Given the description of an element on the screen output the (x, y) to click on. 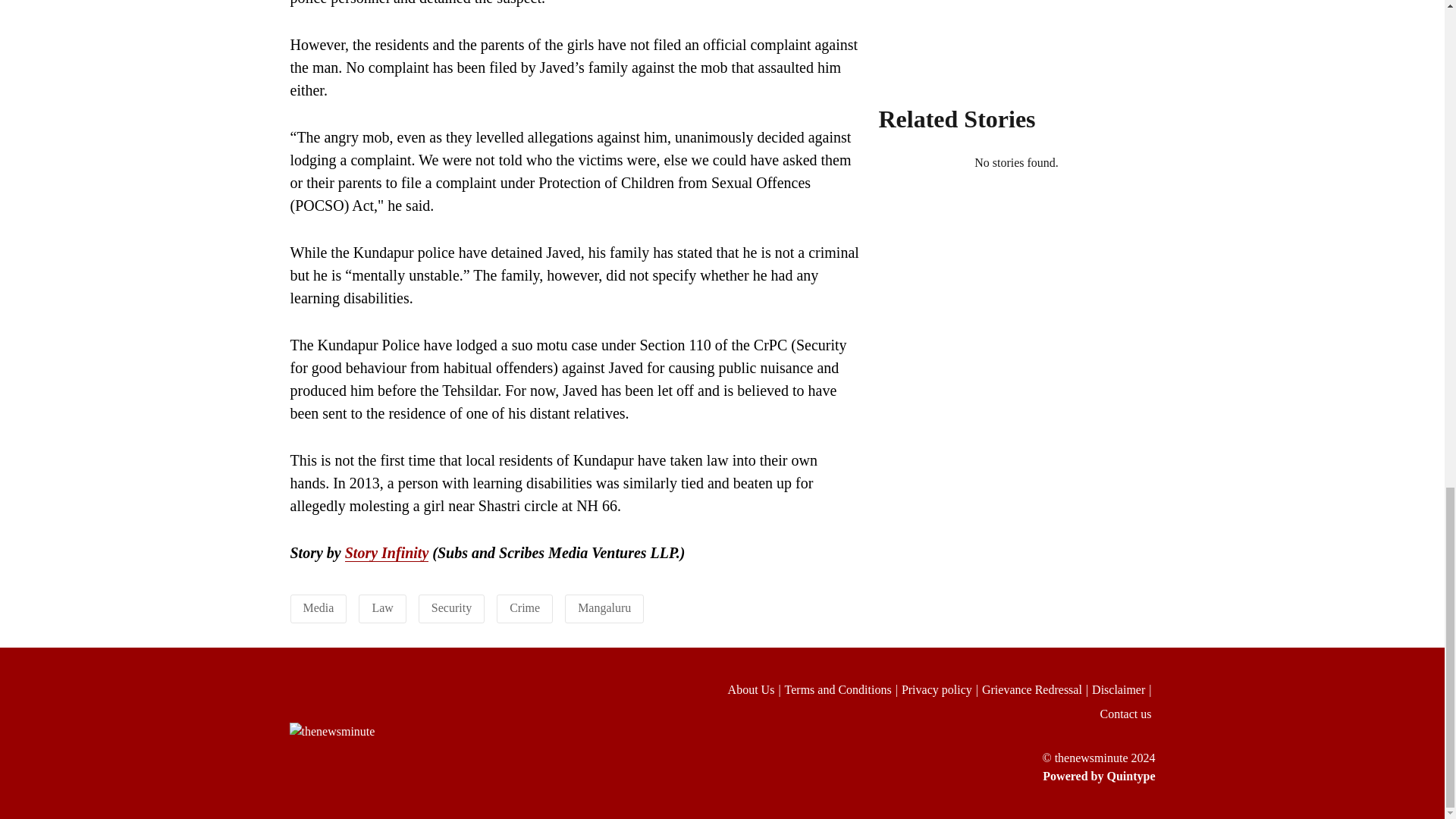
About Us (756, 689)
Powered by Quintype (928, 776)
Mangaluru (604, 607)
Privacy policy (941, 689)
Crime (524, 607)
Law (382, 607)
Story Infinity (387, 552)
Grievance Redressal (1036, 689)
Contact us (1126, 713)
Disclaimer (1123, 689)
